Given the description of an element on the screen output the (x, y) to click on. 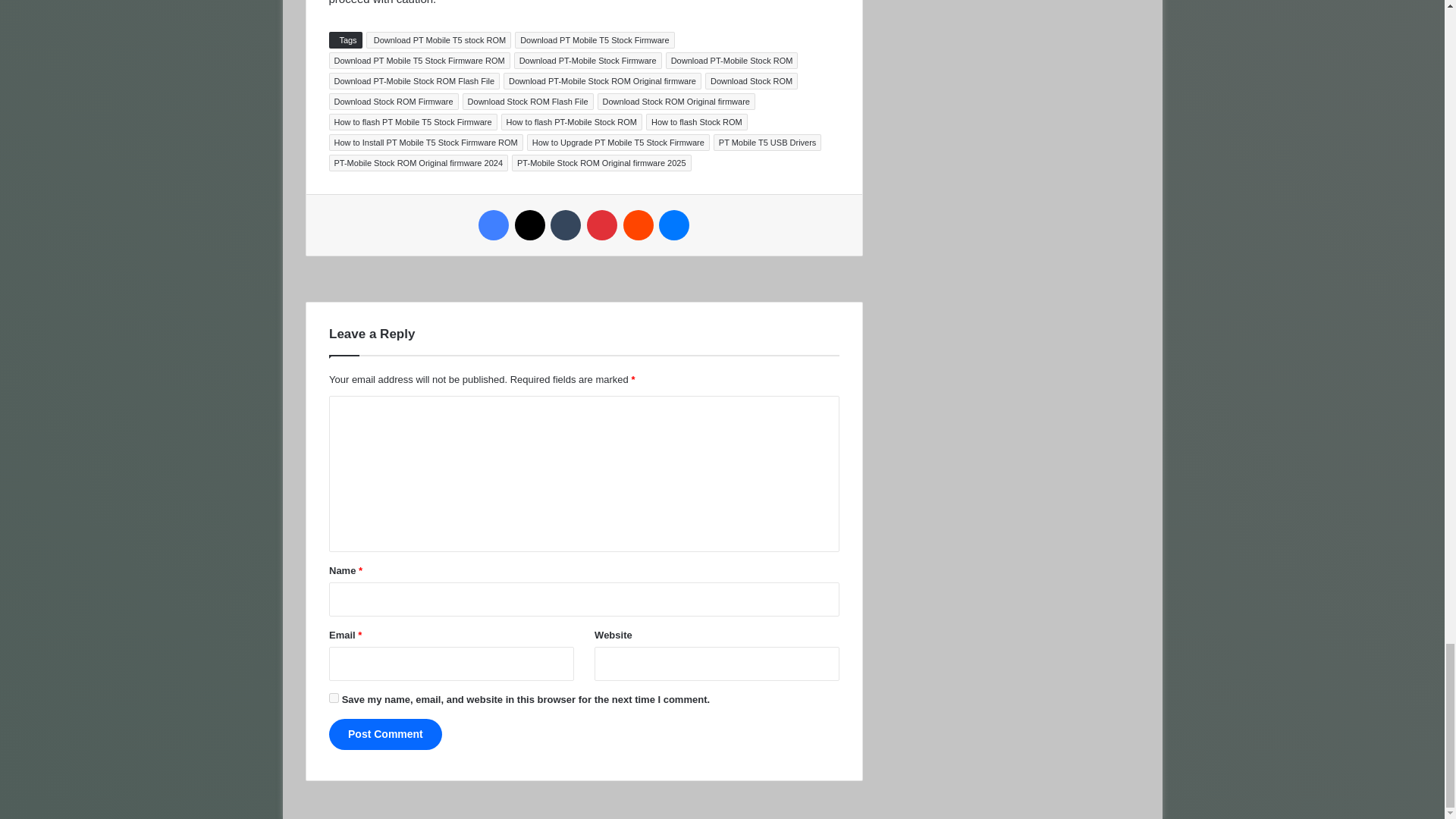
 Download PT Mobile T5 stock ROM (439, 39)
Download PT Mobile T5 Stock Firmware (594, 39)
Pinterest (601, 224)
Messenger (673, 224)
Post Comment (385, 734)
Reddit (638, 224)
Tumblr (565, 224)
yes (334, 697)
Facebook (493, 224)
X (529, 224)
